Given the description of an element on the screen output the (x, y) to click on. 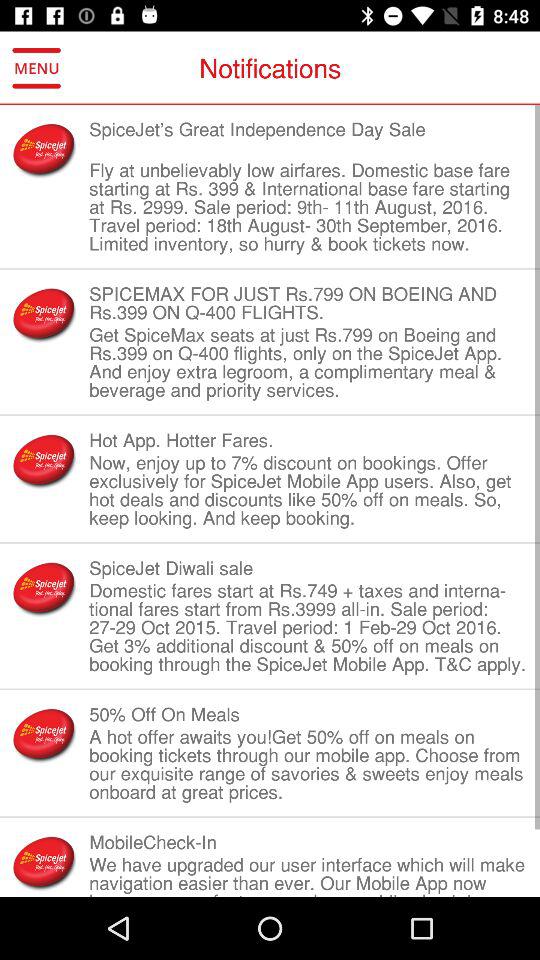
press the item to the left of the spicemax for just item (44, 313)
